Given the description of an element on the screen output the (x, y) to click on. 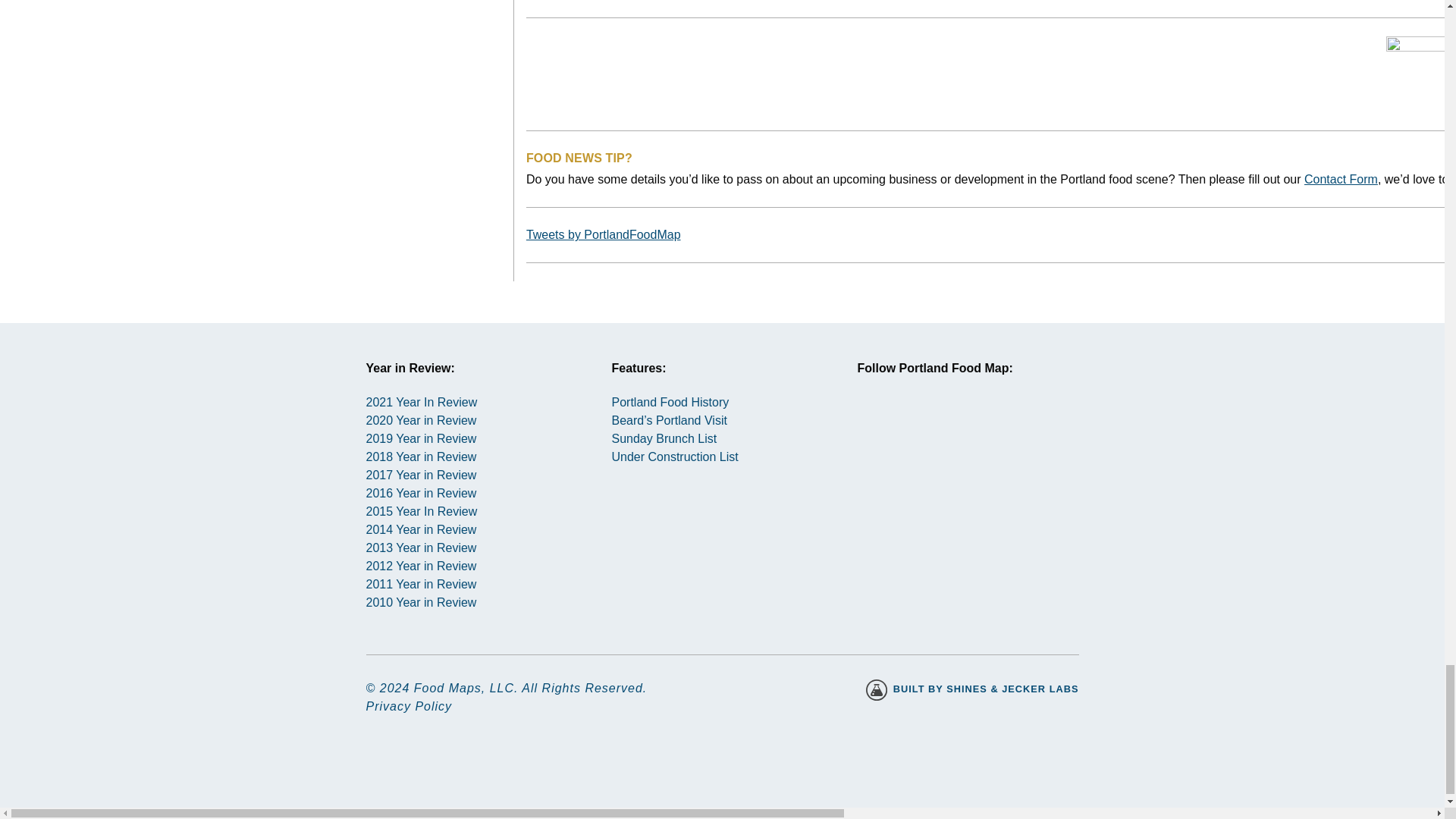
RSS icon (992, 427)
Twitter icon (938, 427)
Instagram icon (882, 427)
